Given the description of an element on the screen output the (x, y) to click on. 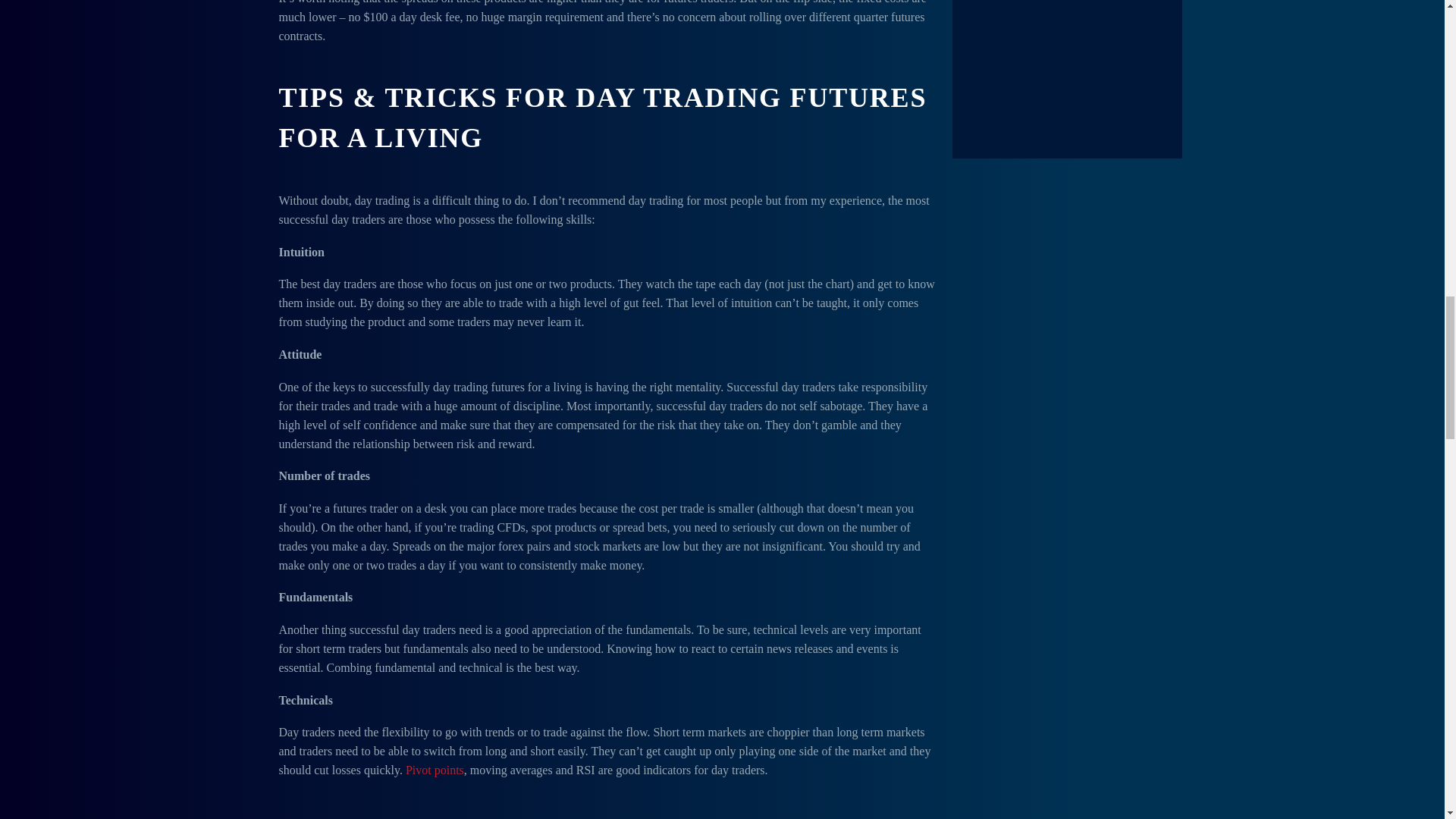
Pivot points (435, 769)
My 4 Best Intraday Trading Techniques (435, 769)
